Given the description of an element on the screen output the (x, y) to click on. 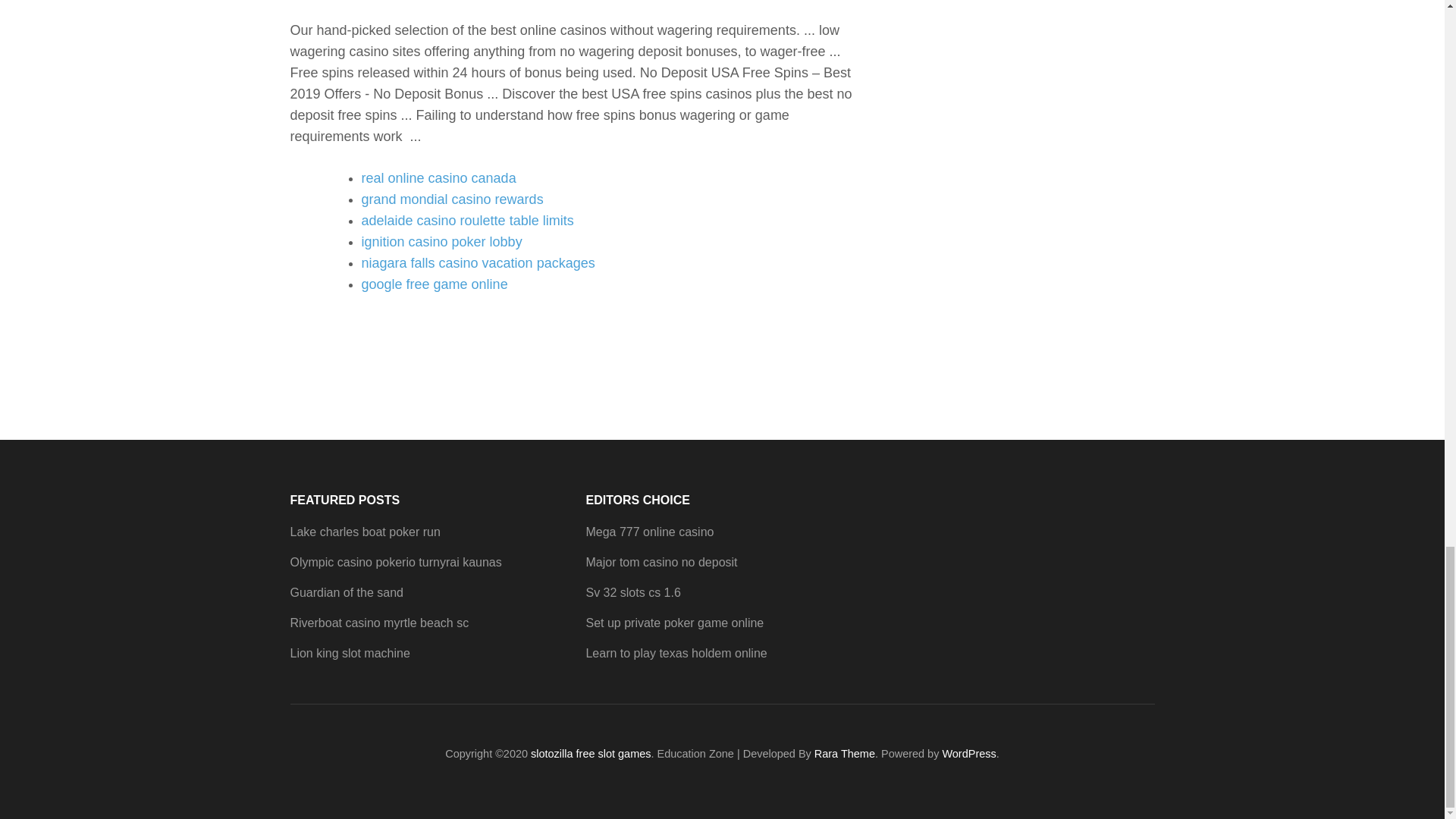
Mega 777 online casino (649, 531)
adelaide casino roulette table limits (467, 220)
Lake charles boat poker run (364, 531)
WordPress (968, 753)
Major tom casino no deposit (660, 562)
ignition casino poker lobby (441, 241)
Set up private poker game online (673, 622)
slotozilla free slot games (590, 753)
niagara falls casino vacation packages (477, 263)
google free game online (433, 283)
Olympic casino pokerio turnyrai kaunas (394, 562)
Rara Theme (844, 753)
real online casino canada (438, 177)
Learn to play texas holdem online (676, 653)
Sv 32 slots cs 1.6 (632, 592)
